Given the description of an element on the screen output the (x, y) to click on. 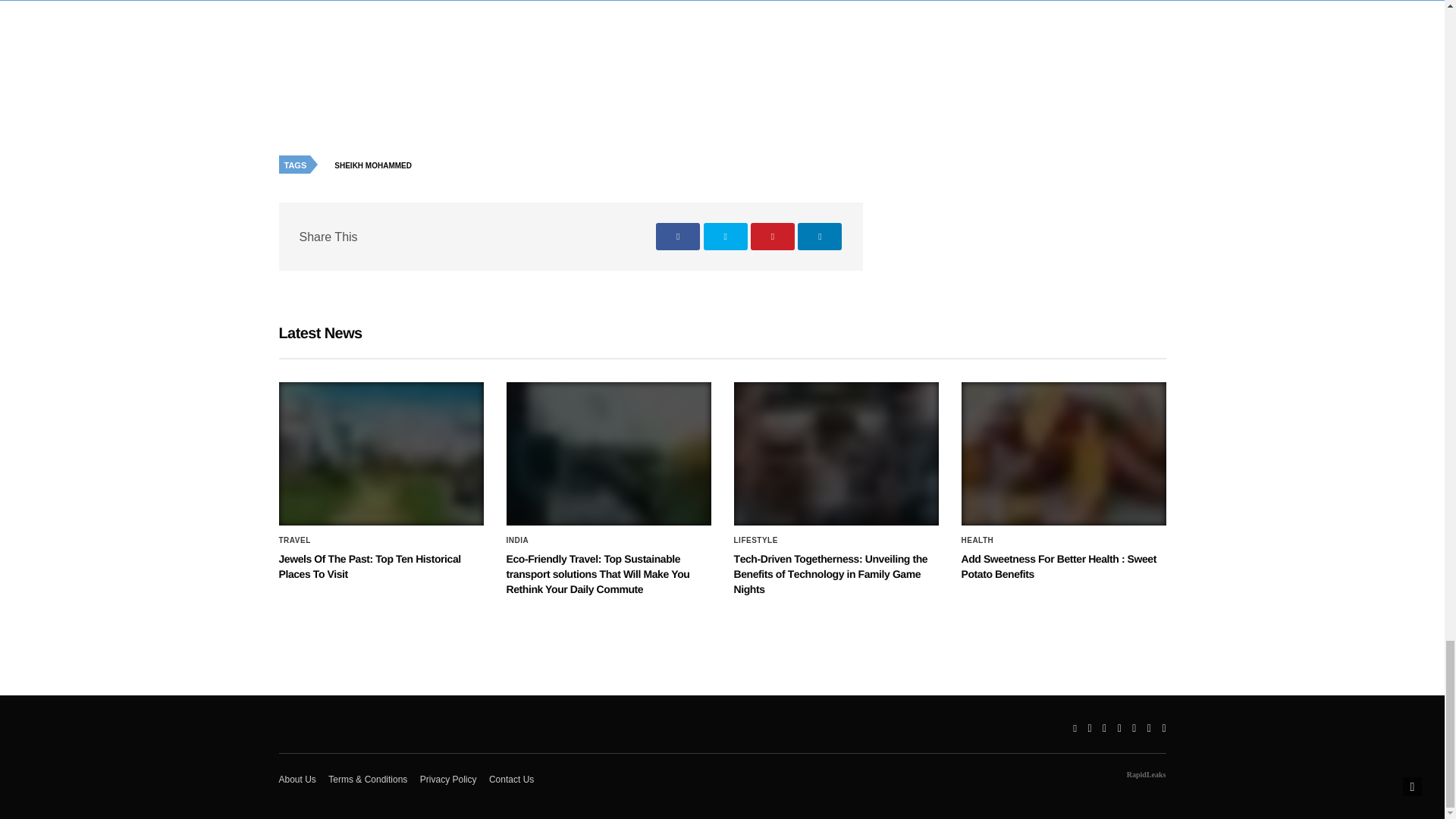
Health (977, 540)
India (517, 540)
Travel (295, 540)
Lifestyle (755, 540)
Jewels Of The Past: Top Ten Historical Places To Visit (370, 565)
Add Sweetness For Better Health : Sweet Potato Benefits (1063, 453)
Jewels Of The Past: Top Ten Historical Places To Visit (381, 453)
